Given the description of an element on the screen output the (x, y) to click on. 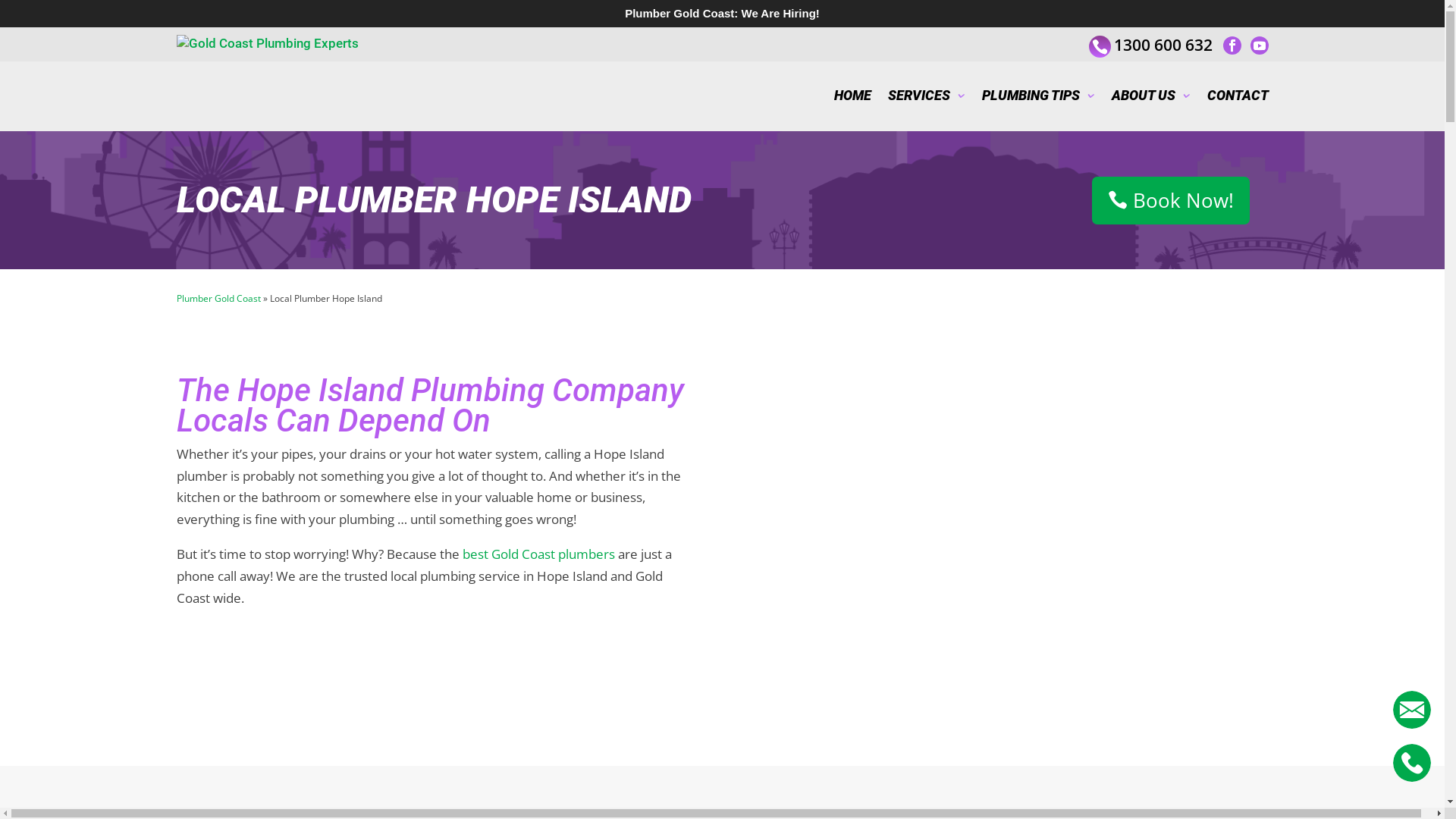
local plumbers hope island banner Element type: hover (1009, 547)
PLUMBING TIPS Element type: text (1037, 95)
ABOUT US Element type: text (1150, 95)
We Are Hiring! Element type: text (780, 13)
Plumber Gold Coast Element type: text (217, 297)
Book Now! Element type: text (1170, 200)
1300 600 632 Element type: text (1160, 44)
best Gold Coast plumbers Element type: text (538, 553)
SERVICES Element type: text (925, 95)
CONTACT Element type: text (1237, 95)
HOME Element type: text (852, 95)
